Given the description of an element on the screen output the (x, y) to click on. 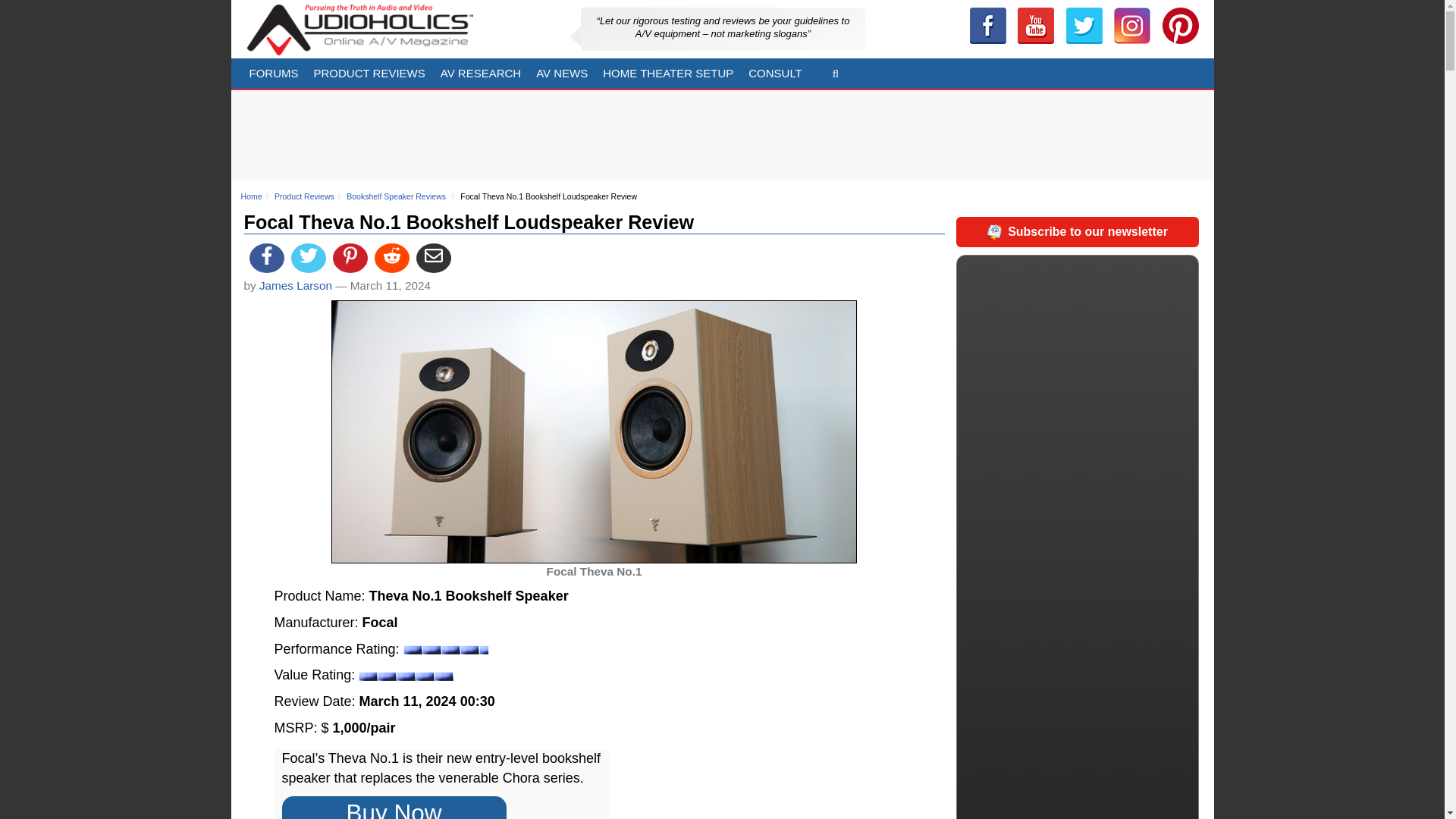
share on pinterest (350, 257)
share on facebook (265, 257)
AV RESEARCH (480, 73)
email (433, 257)
instagram (1132, 25)
share on twitter (308, 257)
Audioholics Youtube (1035, 25)
PRODUCT REVIEWS (368, 73)
FORUMS (273, 73)
Twitter (1083, 25)
share on reddit (391, 257)
pinterest (1180, 25)
Audioholics Facebook (987, 25)
